Given the description of an element on the screen output the (x, y) to click on. 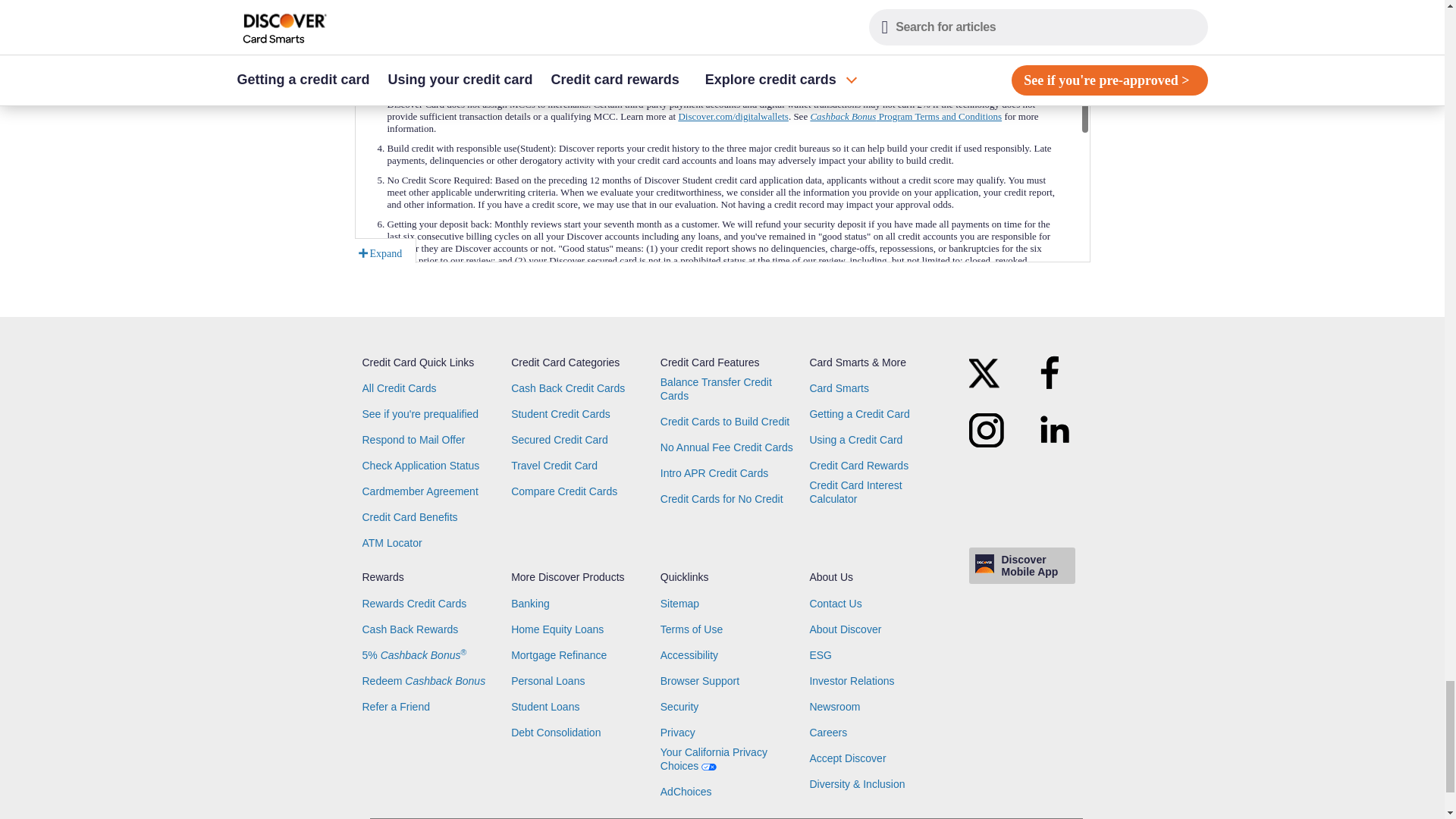
Accept Discover (847, 757)
Careers (828, 732)
Investor Relations (851, 680)
